Given the description of an element on the screen output the (x, y) to click on. 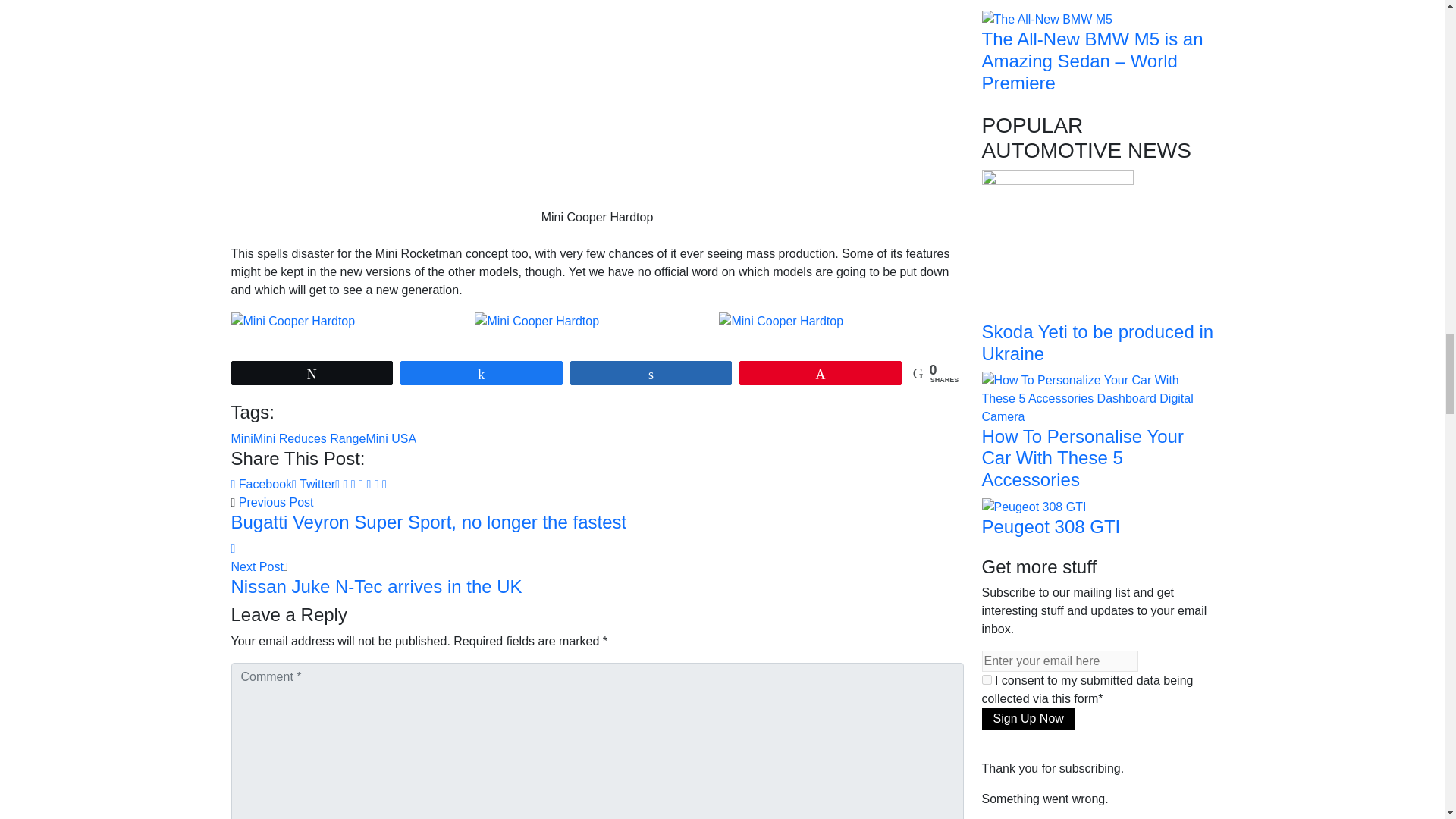
Sign Up Now (1027, 718)
on (986, 679)
